Given the description of an element on the screen output the (x, y) to click on. 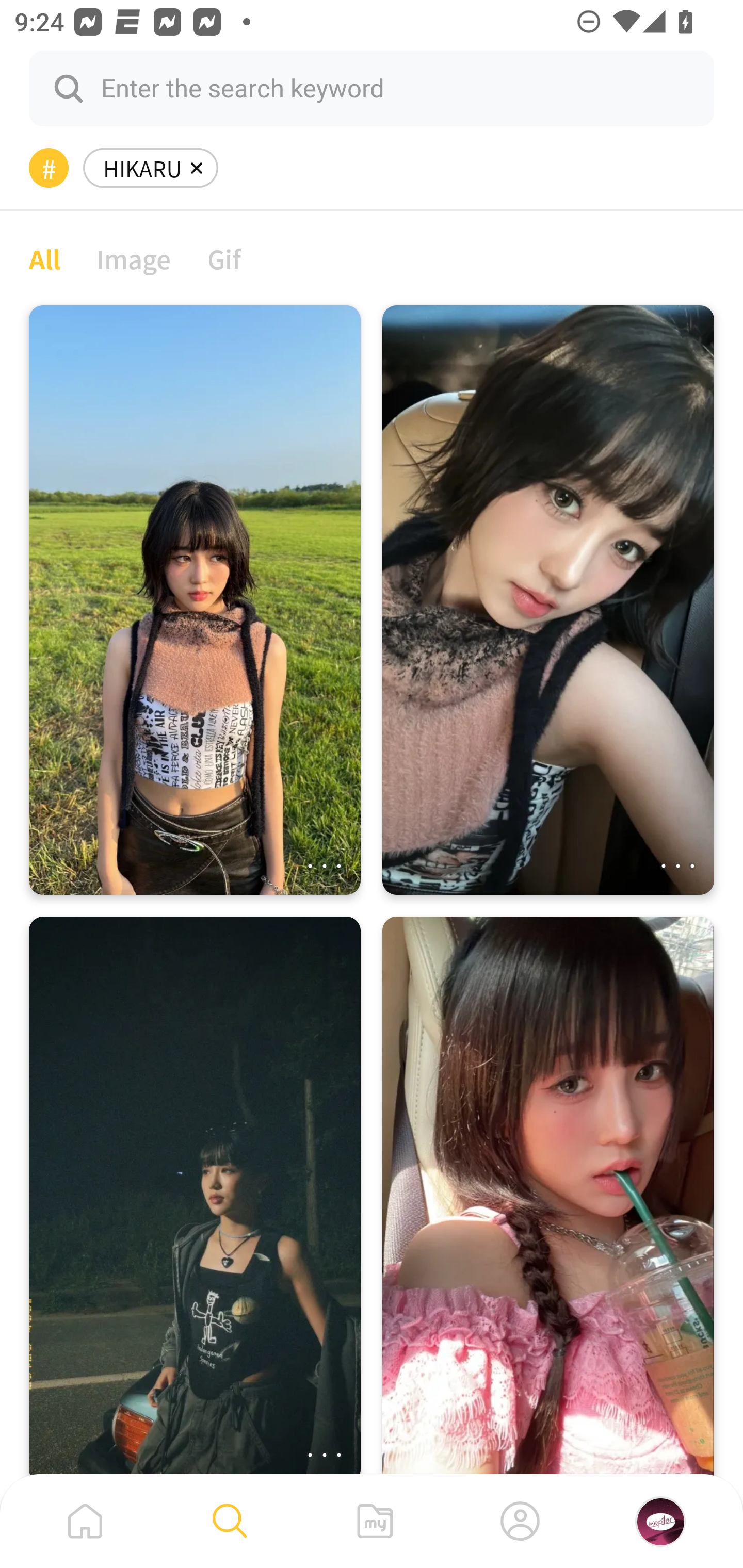
All (44, 257)
Image (133, 257)
Gif (223, 257)
